Given the description of an element on the screen output the (x, y) to click on. 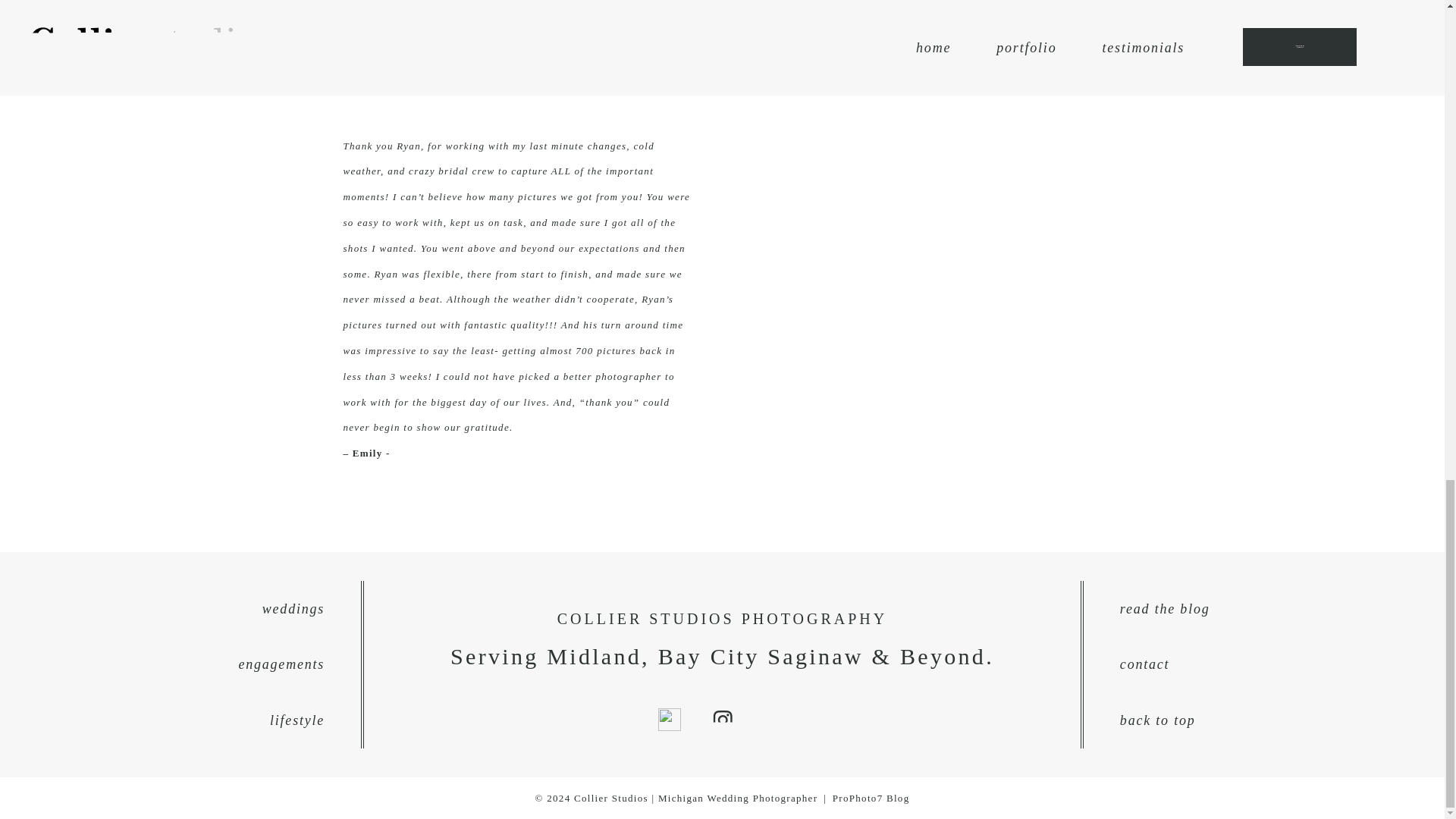
read the blog (1263, 608)
engagements (180, 664)
ProPhoto Blogsite (871, 797)
back to top (1263, 720)
lifestyle (180, 720)
contact (1263, 664)
ProPhoto7 Blog (871, 797)
weddings (180, 608)
